Given the description of an element on the screen output the (x, y) to click on. 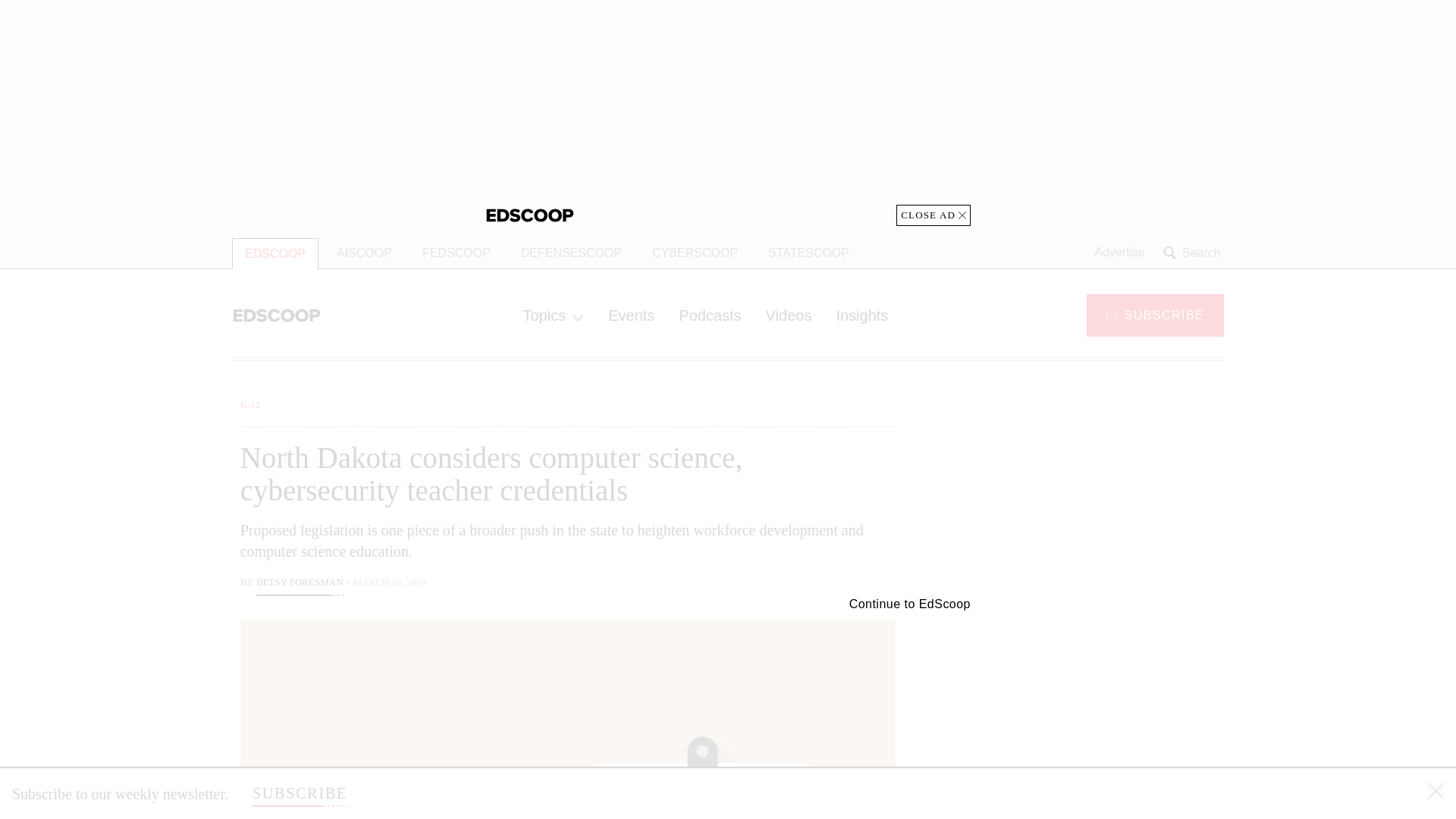
Podcasts (709, 315)
3rd party ad content (1101, 492)
DEFENSESCOOP (570, 253)
K-12 (250, 404)
STATESCOOP (808, 253)
Videos (789, 315)
Insights (861, 315)
